Given the description of an element on the screen output the (x, y) to click on. 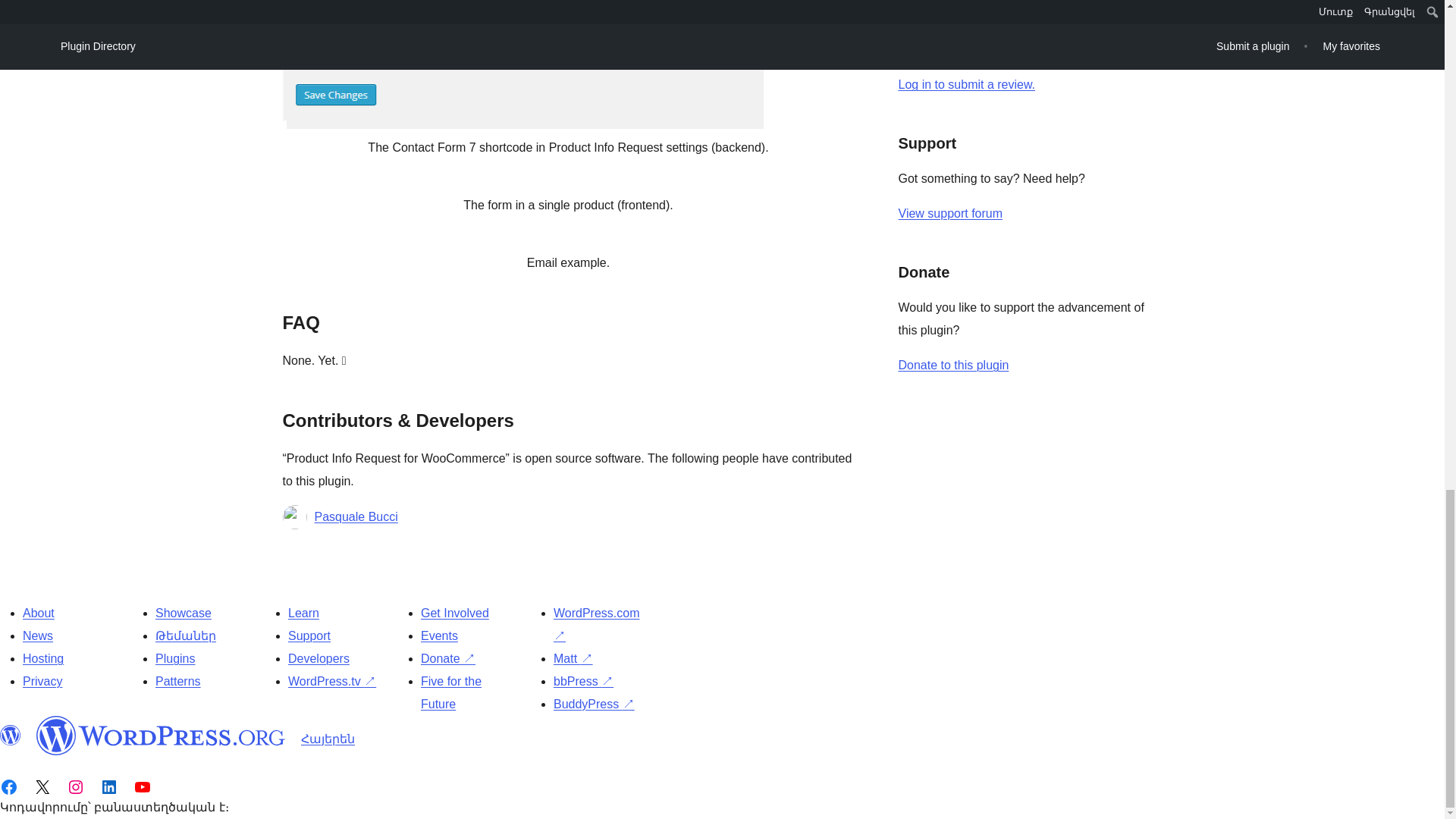
WordPress.org (10, 735)
WordPress.org (160, 735)
Log in to WordPress.org (966, 83)
